Given the description of an element on the screen output the (x, y) to click on. 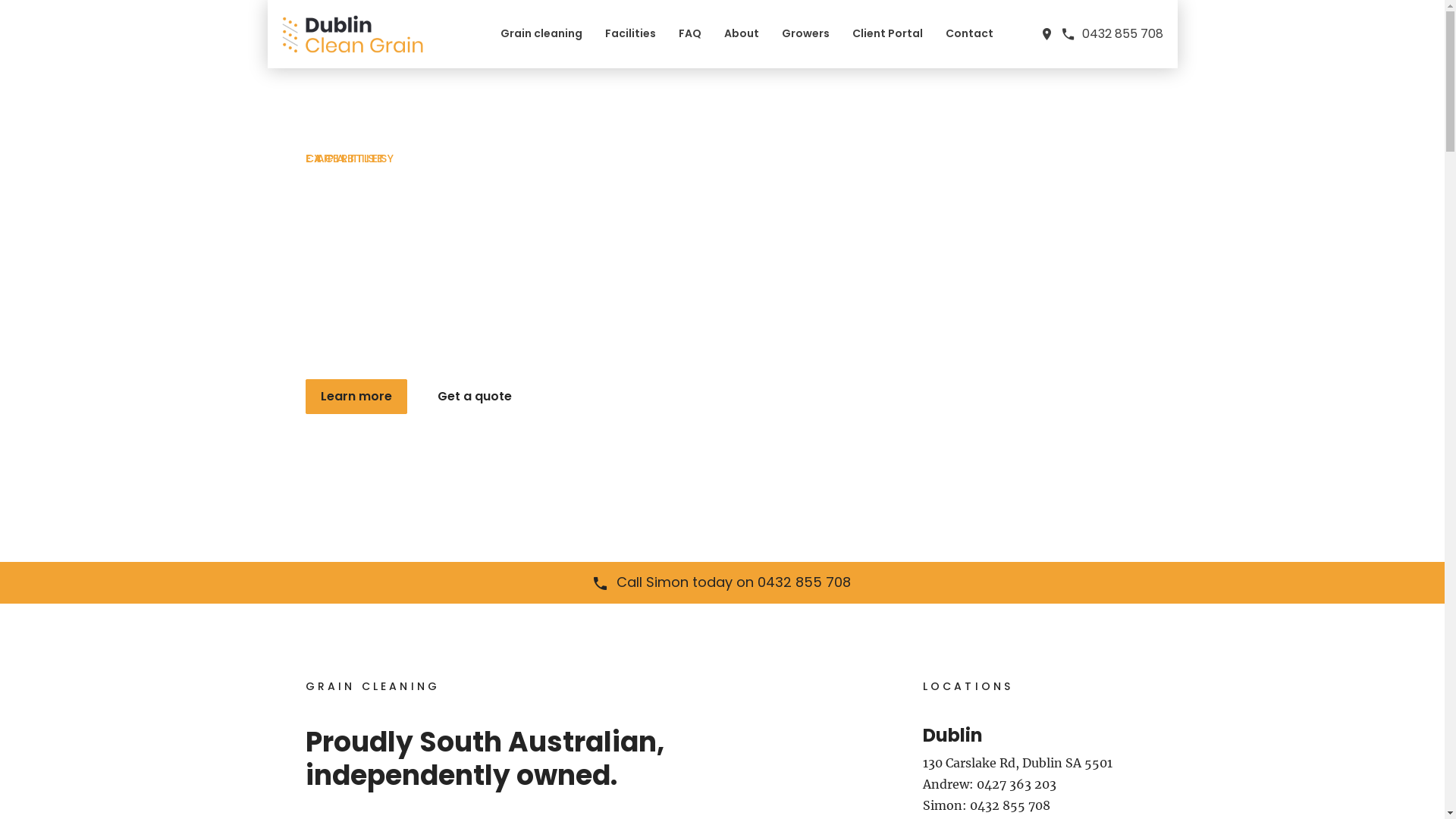
About Element type: text (740, 32)
Grain cleaning Element type: text (541, 32)
Facilities Element type: text (630, 32)
Learn more Element type: text (355, 396)
Call Simon today on 0432 855 708 Element type: text (722, 582)
Growers Element type: text (804, 32)
FAQ Element type: text (688, 32)
0432 855 708 Element type: text (1009, 804)
0432 855 708 Element type: text (1111, 33)
Contact Element type: text (968, 32)
Get a quote Element type: text (473, 396)
0427 363 203 Element type: text (1016, 783)
Client Portal Element type: text (887, 32)
